Given the description of an element on the screen output the (x, y) to click on. 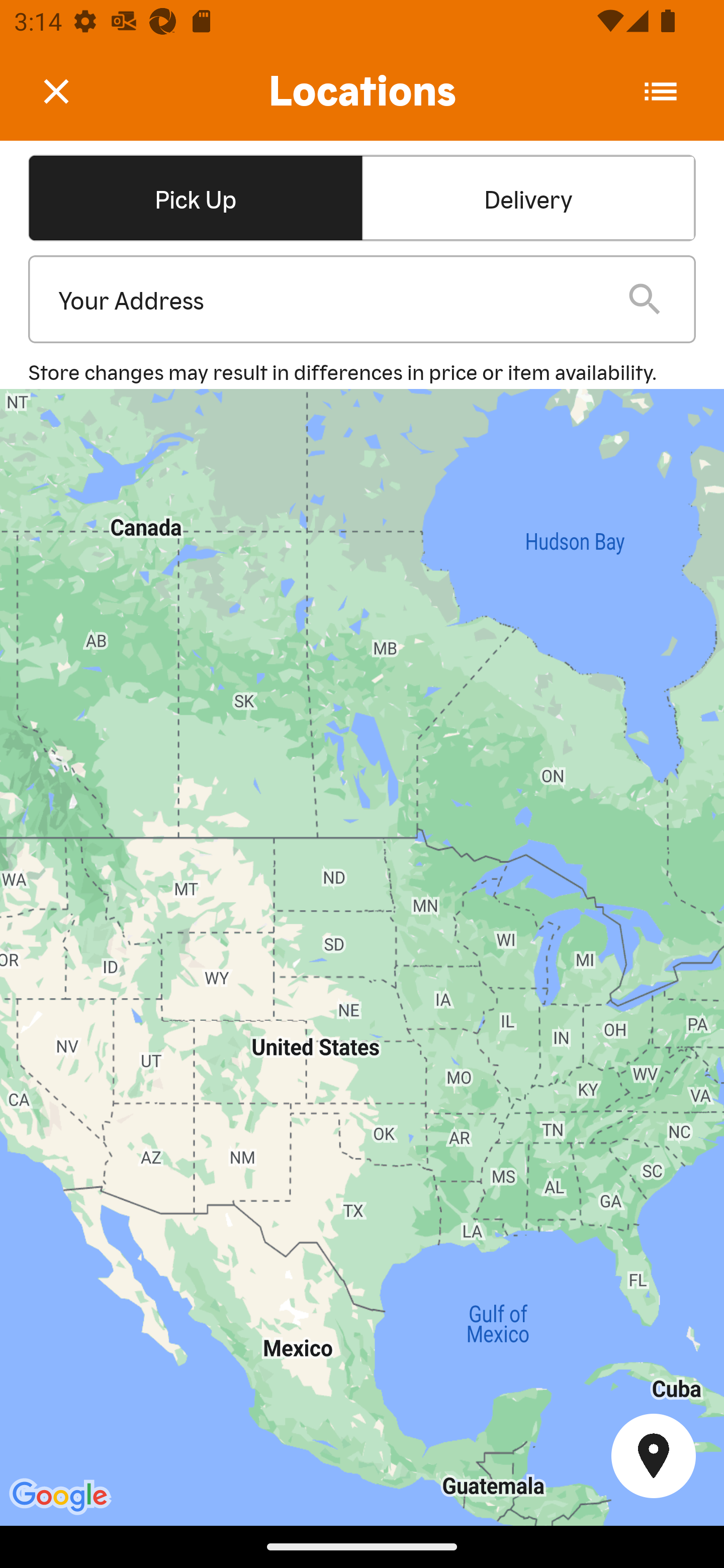
 (70, 90)
List  (660, 91)
Locations (362, 91)
Pick UpSelected Pick UpSelected Pick Up (195, 197)
Delivery Delivery Delivery (528, 197)
Your Address (327, 299)
